Given the description of an element on the screen output the (x, y) to click on. 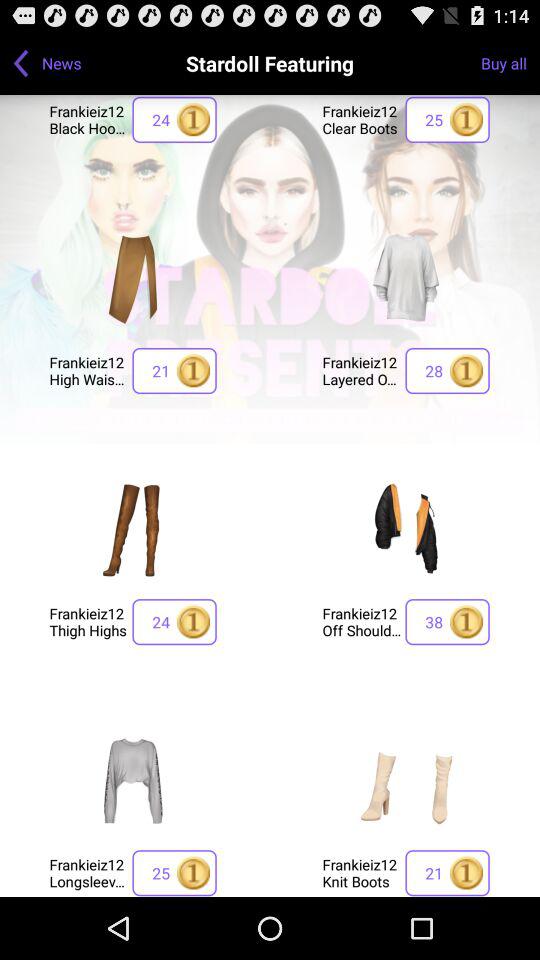
launch button to the left of the 38 button (361, 621)
